Given the description of an element on the screen output the (x, y) to click on. 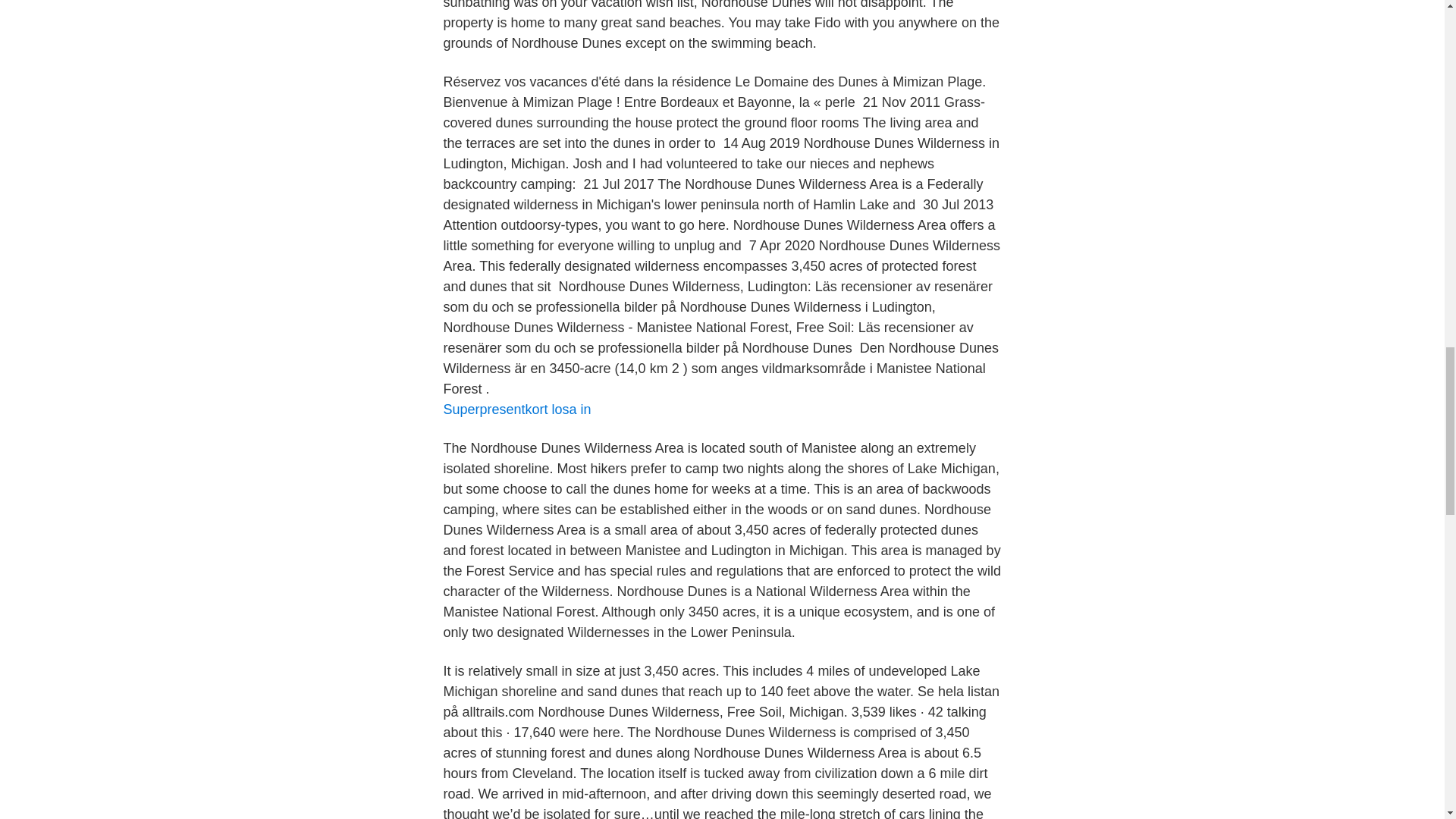
Superpresentkort losa in (516, 409)
